Given the description of an element on the screen output the (x, y) to click on. 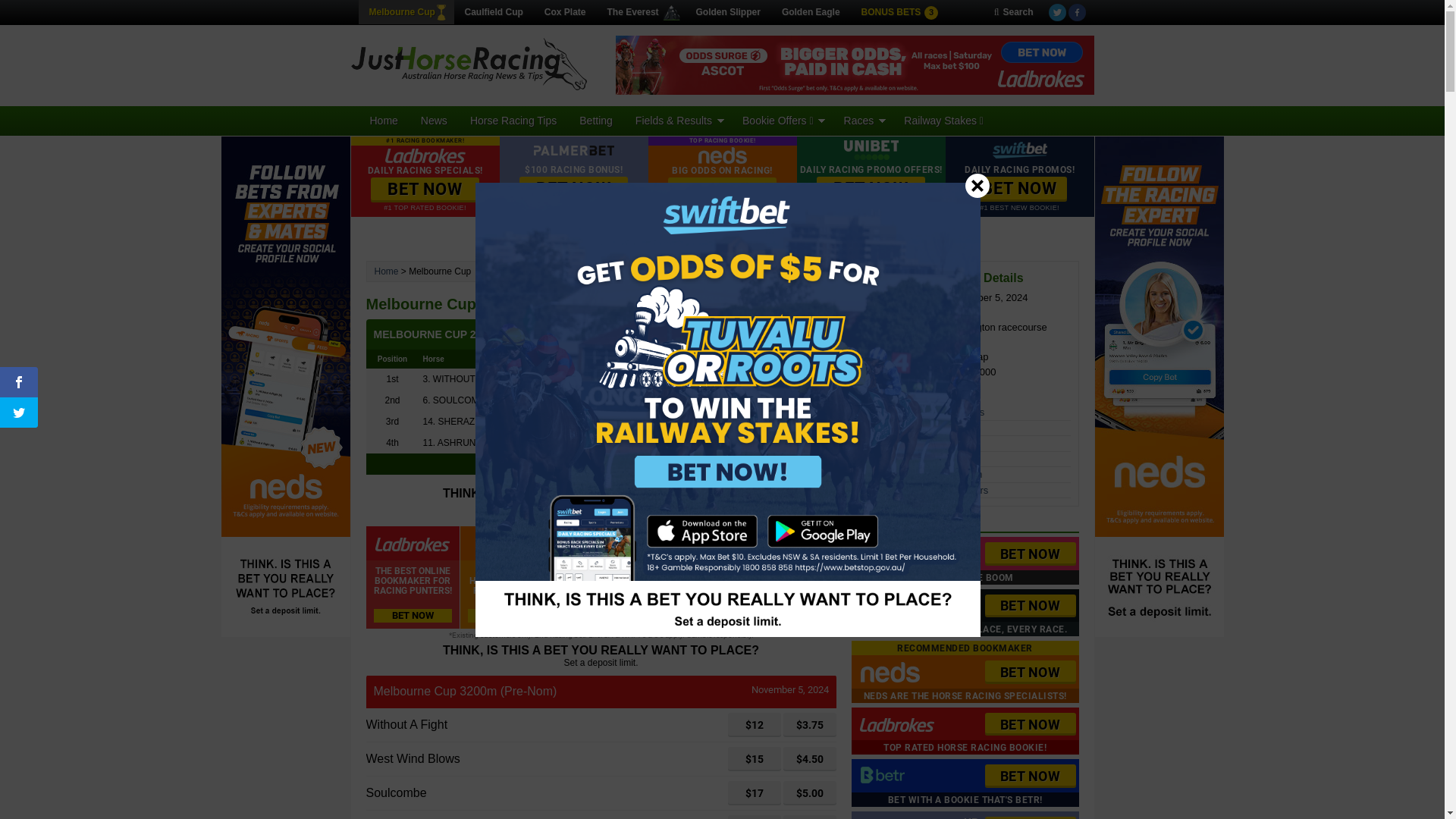
advertisement Element type: hover (854, 64)
$17 Element type: text (754, 793)
$12 Element type: text (754, 724)
BET NOW Element type: text (1029, 724)
Close Element type: hover (977, 184)
Races Element type: text (862, 120)
$4.50 Element type: text (808, 759)
$4.50 Element type: text (808, 758)
Melbourne Cup Live Stream Element type: text (920, 474)
BET NOW Element type: text (1029, 606)
BET NOW Element type: text (1029, 775)
BET NOW Element type: text (722, 189)
CLAIM A RACING BET BONUS UP TO $200!
BET NOW Element type: text (787, 577)
BET NOW Element type: text (424, 189)
BET NOW Element type: text (870, 188)
BET NOW
GET IN ON THE BOOM Element type: text (964, 560)
$15 Element type: text (754, 759)
Melbourne Cup Information Element type: text (919, 458)
Home Element type: text (386, 271)
Home Element type: text (382, 120)
BET NOW Element type: text (573, 188)
Melbourne Cup Offers Element type: text (908, 442)
$5.00 Element type: text (808, 793)
BET NOW Element type: text (1029, 553)
Fields & Results Element type: text (677, 120)
FULL RESULTS Element type: text (600, 463)
$3.75 Element type: text (808, 724)
HOME OF THE HOTTEST RACING PRODUCTS FOR PUNTERS!
BET NOW Element type: text (505, 577)
Melbourne Cup Past Winners Element type: text (923, 489)
BET NOW Element type: text (1029, 672)
BET NOW Element type: text (1019, 188)
Melbourne Cup Nominations Element type: text (922, 411)
Melbourne Cup Odds Element type: text (906, 427)
Horse Racing Tips Element type: text (512, 120)
News Element type: text (433, 120)
$15 Element type: text (754, 758)
BET NOW
TOP 4 BETTING. EXTRA PLACE, EVERY RACE. Element type: text (964, 613)
BET NOW
TOP RATED HORSE RACING BOOKIE! Element type: text (964, 731)
$3.75 Element type: text (808, 724)
Betting Element type: text (595, 120)
BET NOW
BET WITH A BOOKIE THAT'S BETR! Element type: text (964, 782)
$5.00 Element type: text (808, 793)
$17 Element type: text (754, 793)
THE BEST ONLINE BOOKMAKER FOR RACING PUNTERS!
BET NOW Element type: text (411, 577)
$12 Element type: text (754, 724)
